Given the description of an element on the screen output the (x, y) to click on. 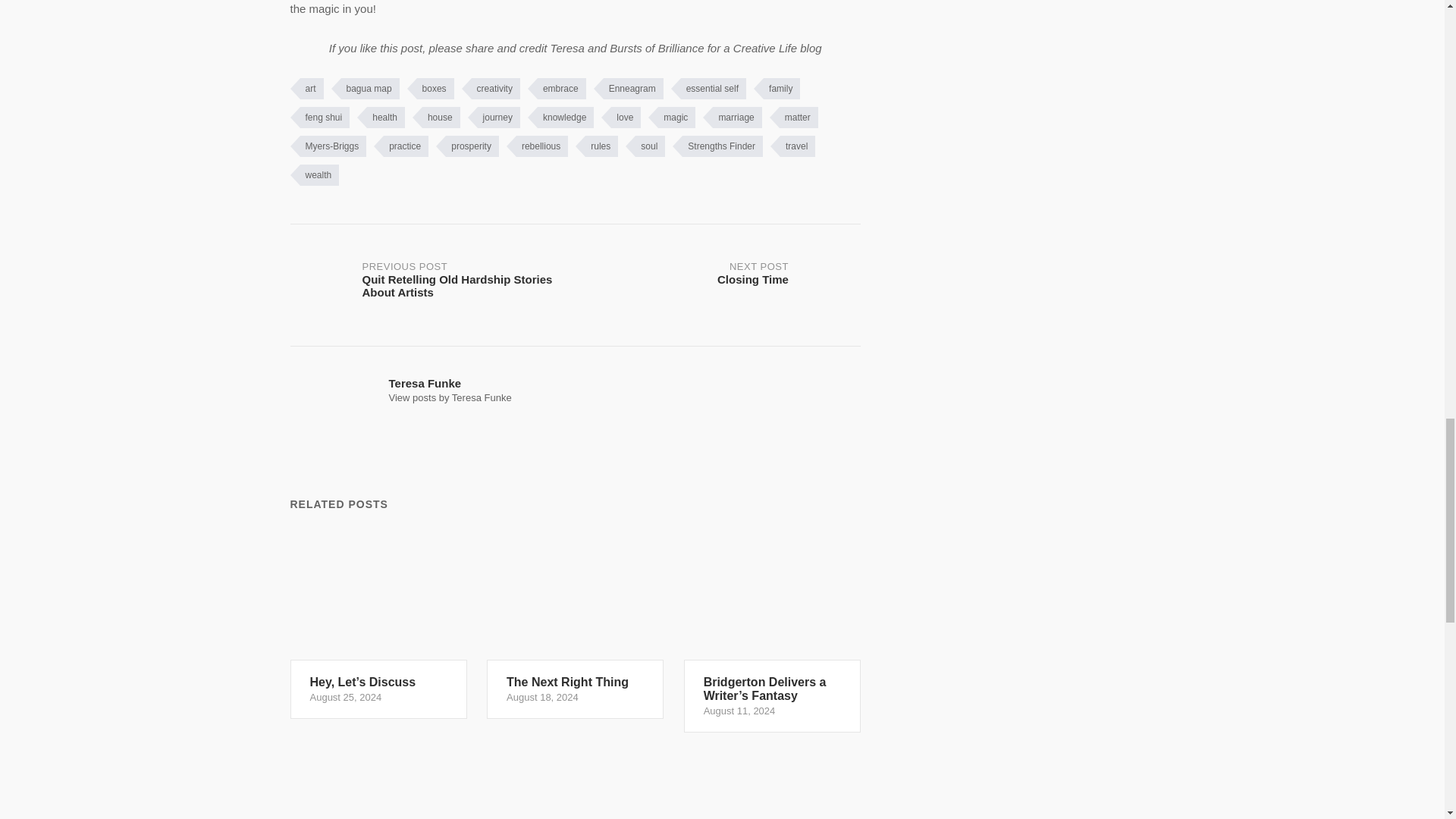
bagua map (364, 88)
embrace (556, 88)
love (620, 117)
Enneagram (628, 88)
art (306, 88)
health (380, 117)
feng shui (319, 117)
boxes (430, 88)
family (776, 88)
The Next Right Thing (574, 622)
